Given the description of an element on the screen output the (x, y) to click on. 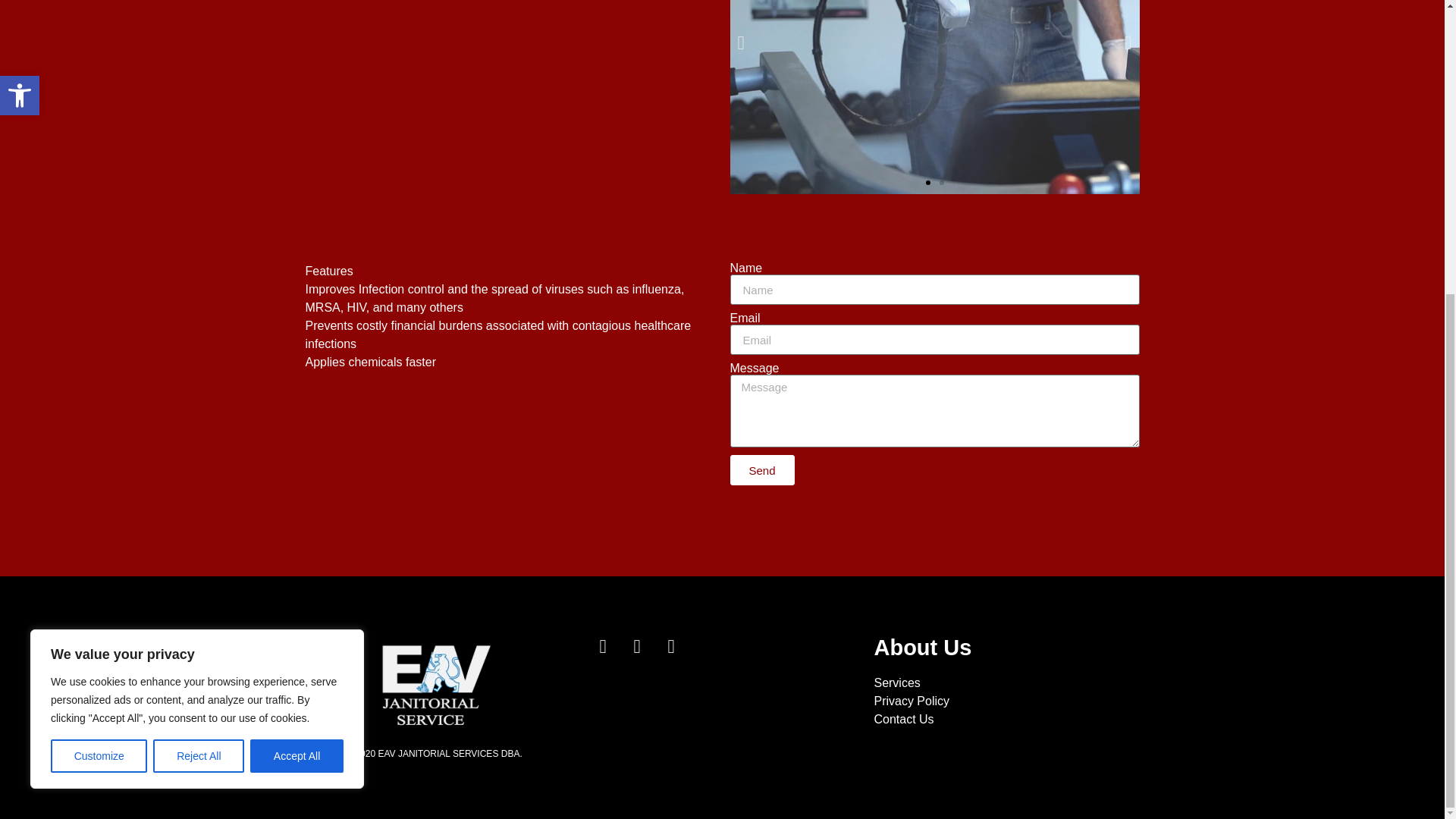
logo-for-pic (433, 684)
Services (1010, 683)
Contact Us (1010, 719)
Send (761, 470)
Accept All (296, 304)
Customize (98, 304)
Reject All (198, 304)
Privacy Policy (1010, 701)
